Given the description of an element on the screen output the (x, y) to click on. 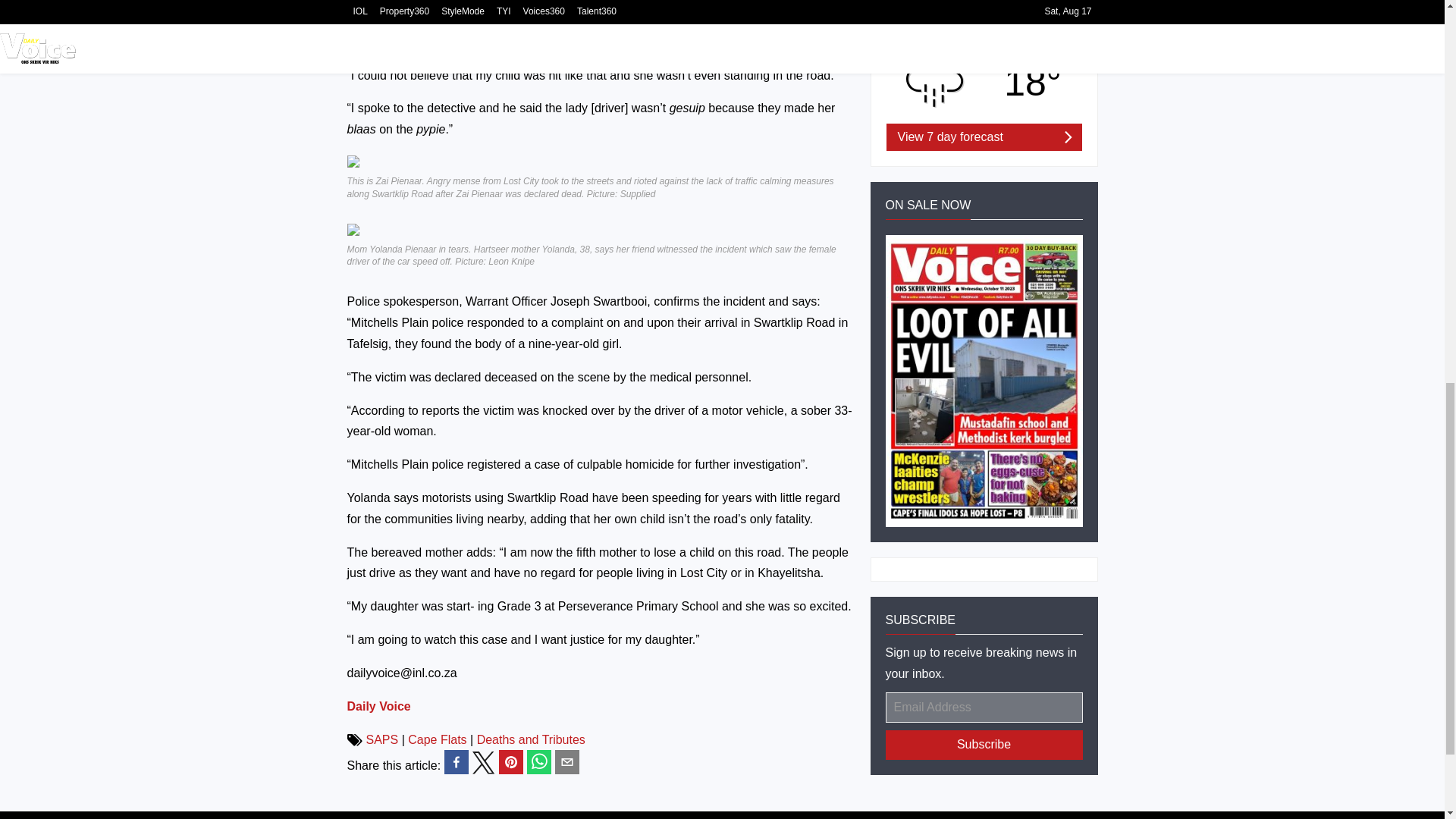
Subscribe (984, 744)
Daily Voice (378, 706)
About Daily Voice (418, 815)
SAPS (381, 739)
Cape Flats (436, 739)
View 7 day forecast (983, 136)
Deaths and Tributes (531, 739)
Contact Us (512, 815)
